Given the description of an element on the screen output the (x, y) to click on. 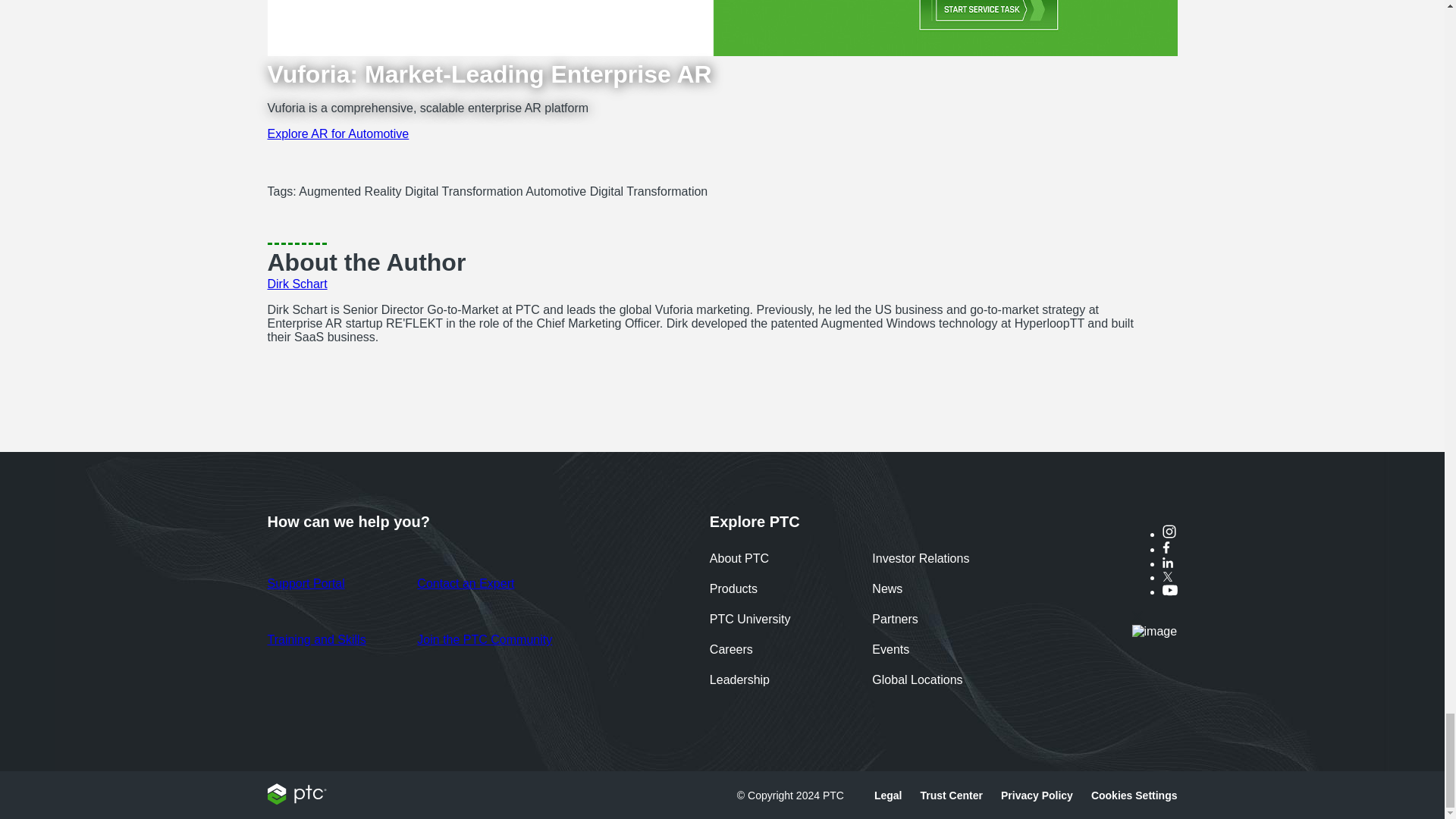
News (887, 590)
PTC (296, 800)
Cookies Setting (1133, 794)
Cookies Settings (1133, 794)
Investor Relations (920, 559)
Products (733, 590)
News (887, 590)
Careers (731, 650)
Products (733, 590)
Partners (894, 620)
Investor Relations (920, 559)
PTC University (750, 620)
Global Locations (917, 681)
Trust Center (950, 794)
Legal (888, 794)
